Given the description of an element on the screen output the (x, y) to click on. 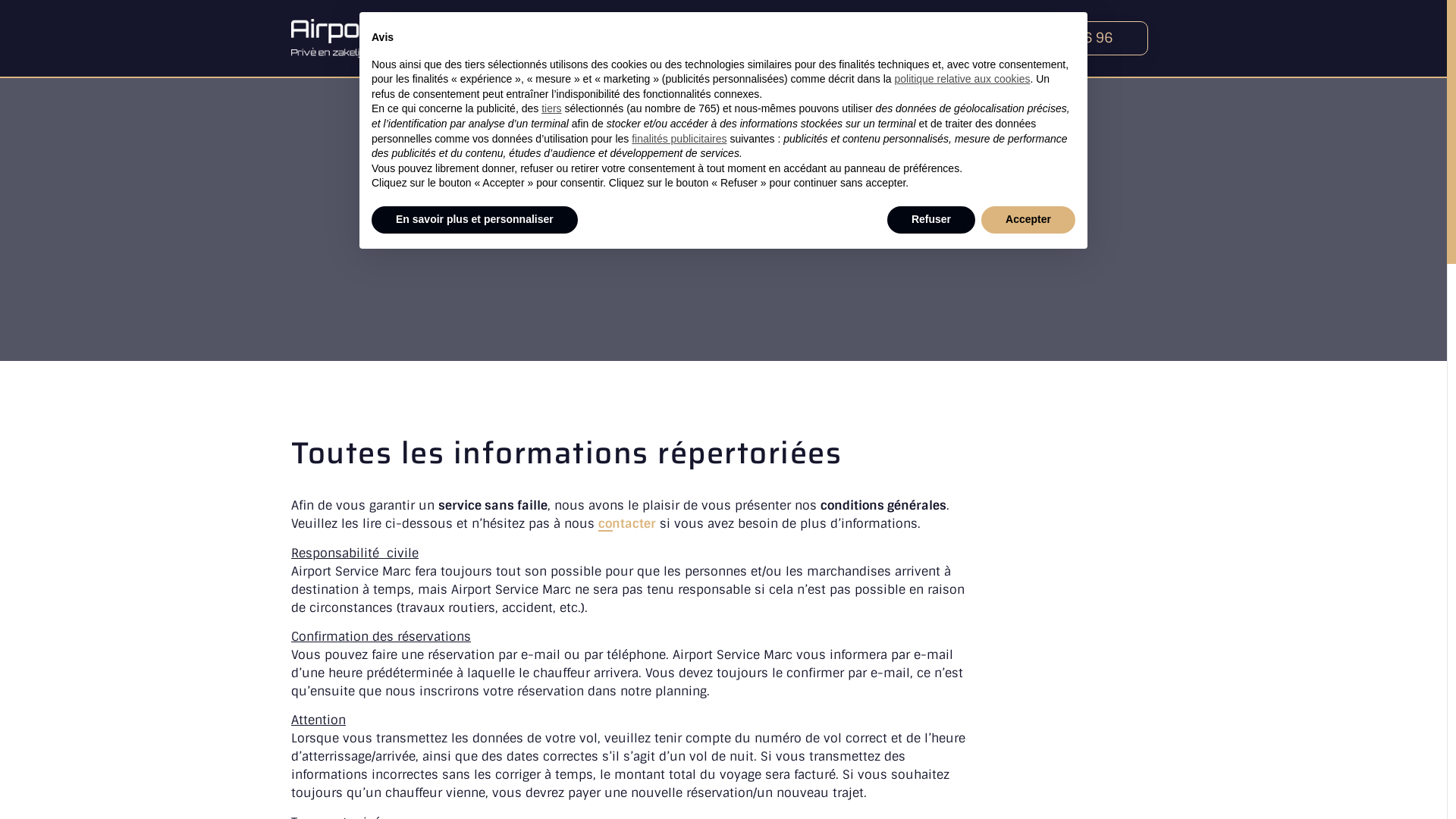
tiers Element type: text (551, 108)
FR Element type: text (892, 37)
politique relative aux cookies Element type: text (961, 78)
CONTACT Element type: text (815, 37)
ACCUEIL Element type: text (639, 37)
0496 43 06 96 Element type: text (1056, 38)
Accepter Element type: text (1028, 219)
Refuser Element type: text (931, 219)
En savoir plus et personnaliser Element type: text (474, 219)
contacter Element type: text (626, 523)
SERVICES Element type: text (727, 37)
